Given the description of an element on the screen output the (x, y) to click on. 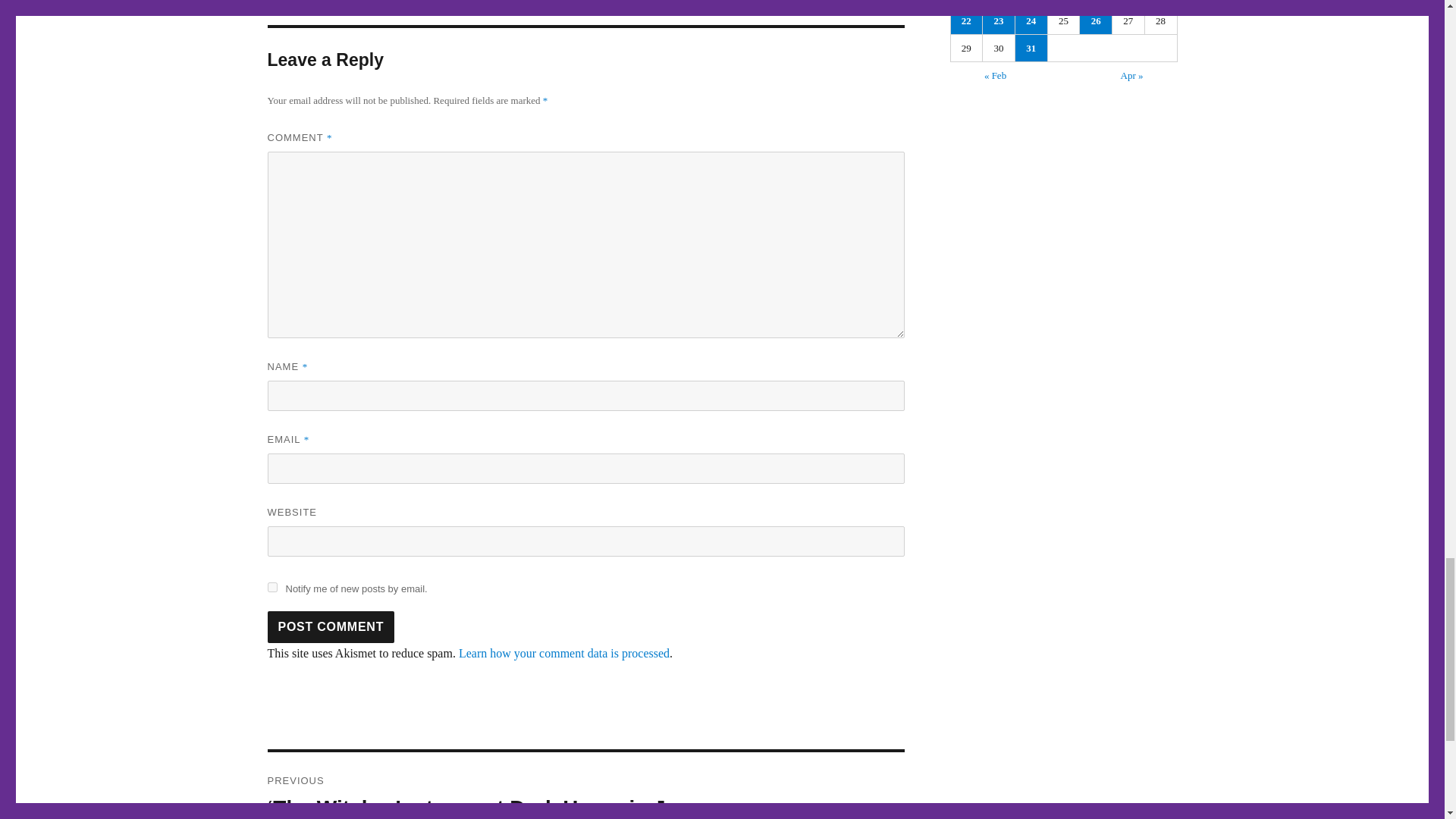
Post Comment (330, 626)
subscribe (271, 587)
Post Comment (330, 626)
Learn how your comment data is processed (563, 653)
